Given the description of an element on the screen output the (x, y) to click on. 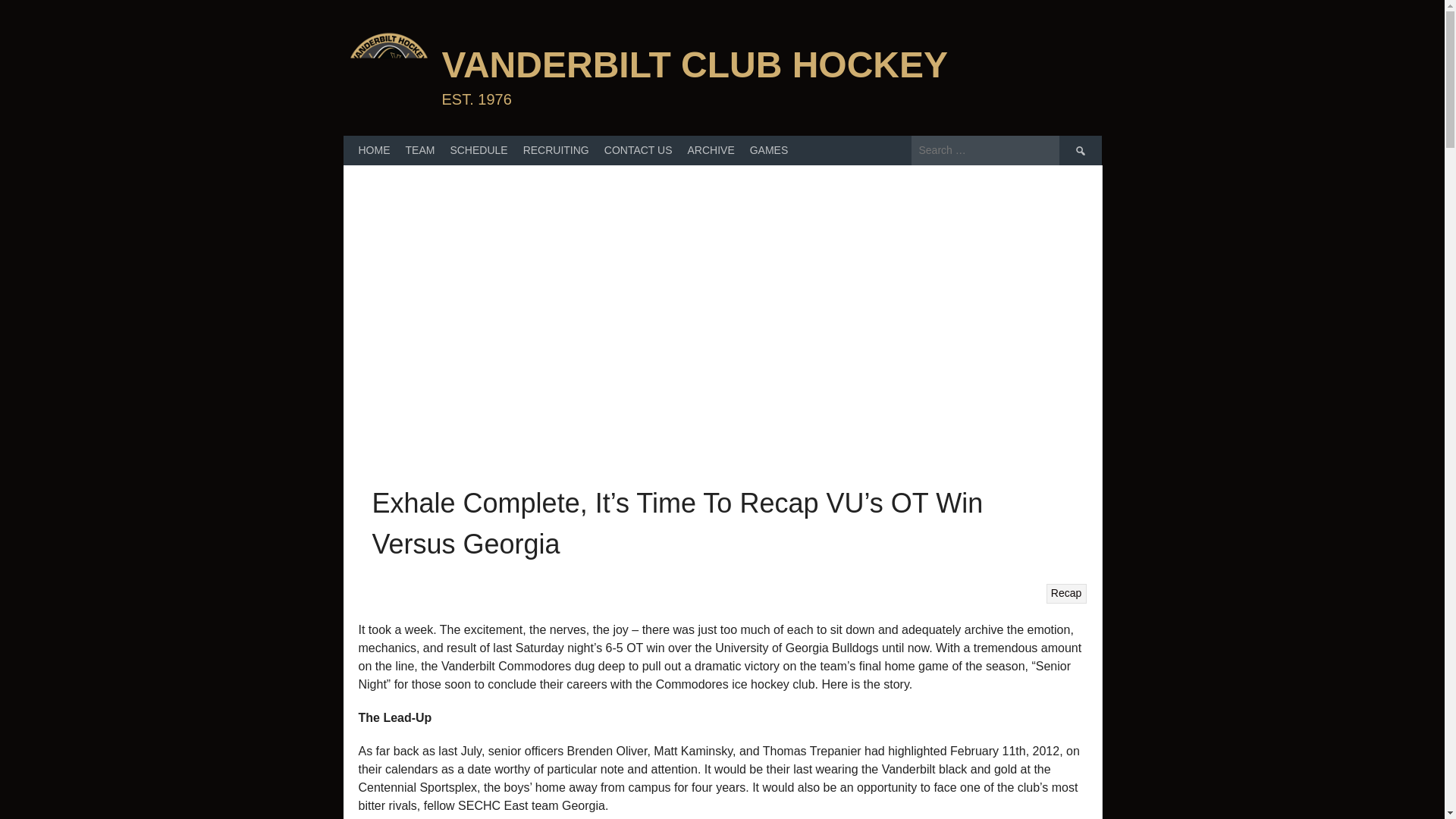
VANDERBILT CLUB HOCKEY (694, 65)
TEAM (419, 150)
RECRUITING (555, 150)
Search (1079, 150)
ARCHIVE (710, 150)
HOME (373, 150)
CONTACT US (637, 150)
SCHEDULE (478, 150)
